Given the description of an element on the screen output the (x, y) to click on. 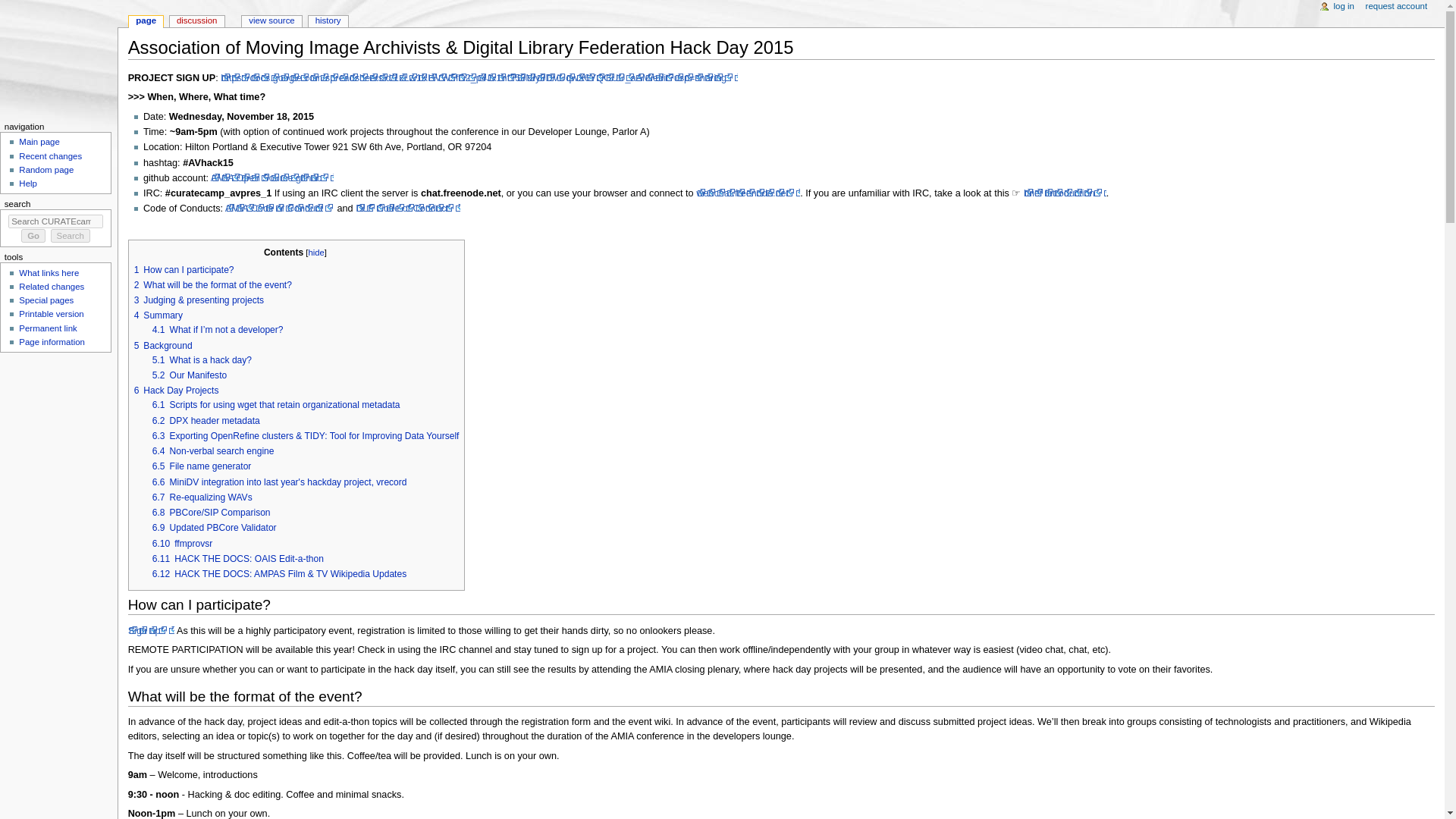
The place to find out (27, 183)
hide (315, 252)
1 How can I participate? (183, 269)
Search (70, 235)
6.5 File name generator (201, 466)
6 Hack Day Projects (176, 389)
Go (33, 235)
webchat.freenode.net (747, 193)
Search the pages for this text (70, 235)
